Given the description of an element on the screen output the (x, y) to click on. 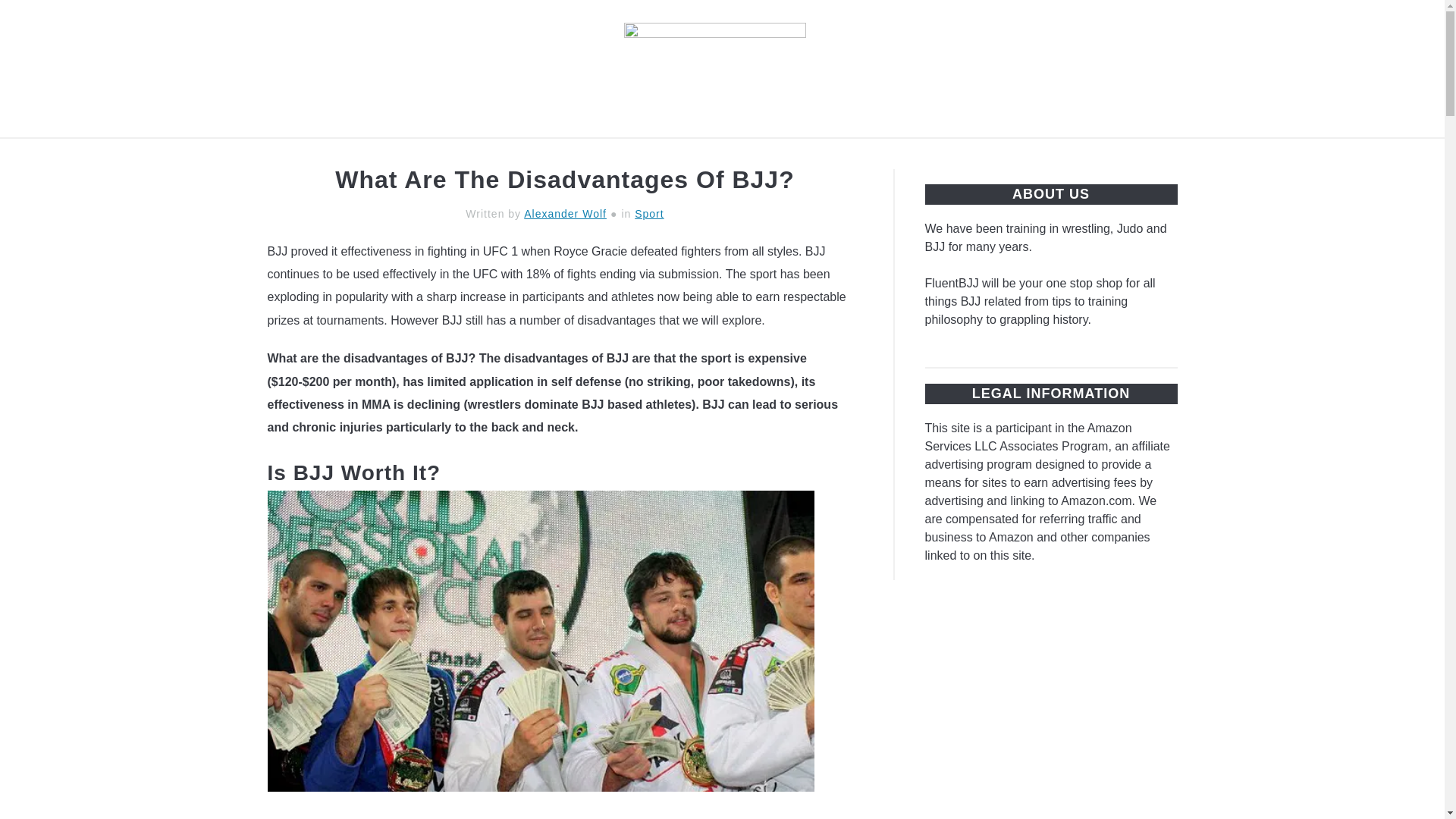
WRITE FOR US: SUBMIT A GUEST POST (1039, 155)
PRIVACY POLICY (649, 155)
HOME (294, 155)
Sport (648, 214)
BLOG (363, 155)
ABOUT (854, 155)
CONTACT (769, 155)
Search (1172, 68)
Alexander Wolf (565, 214)
